Given the description of an element on the screen output the (x, y) to click on. 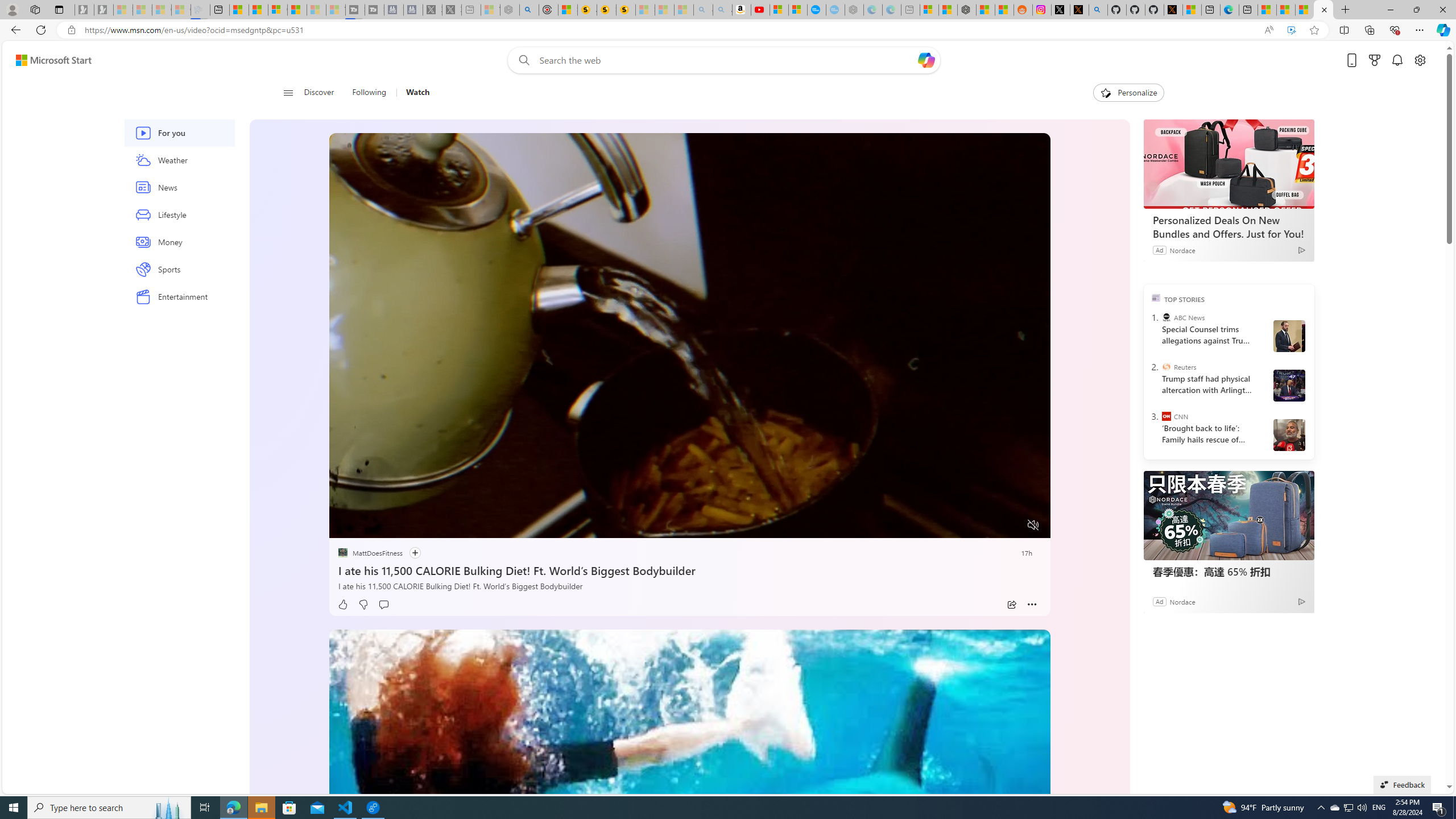
Pause (346, 525)
Share (1010, 604)
